Given the description of an element on the screen output the (x, y) to click on. 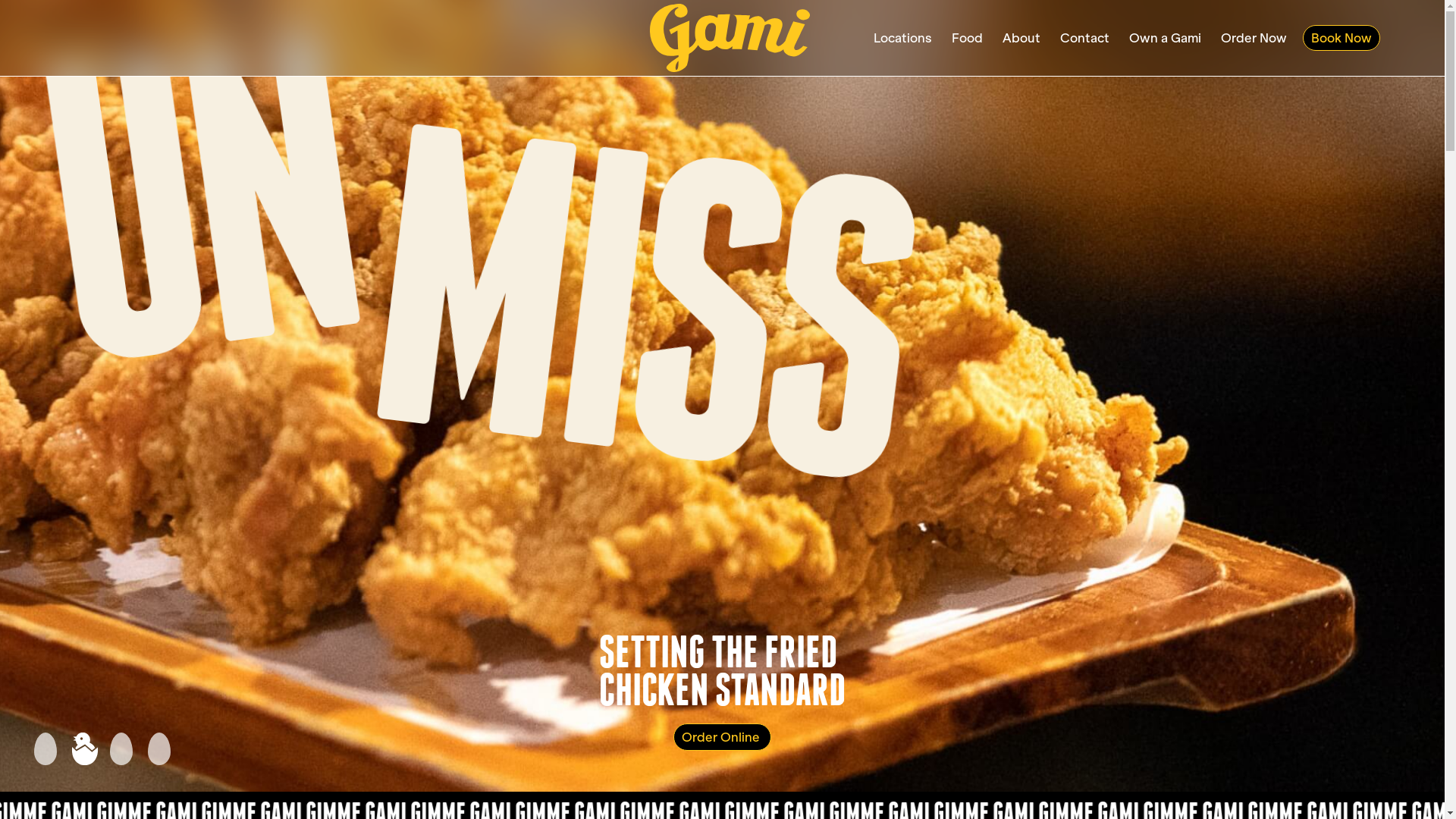
Contact Element type: text (1084, 37)
Order Now Element type: text (1253, 37)
About Element type: text (1021, 37)
Locations Element type: text (902, 37)
Food Element type: text (966, 37)
Book Now Element type: text (1341, 37)
Own a Gami Element type: text (1165, 37)
Order Online Element type: text (722, 736)
